Given the description of an element on the screen output the (x, y) to click on. 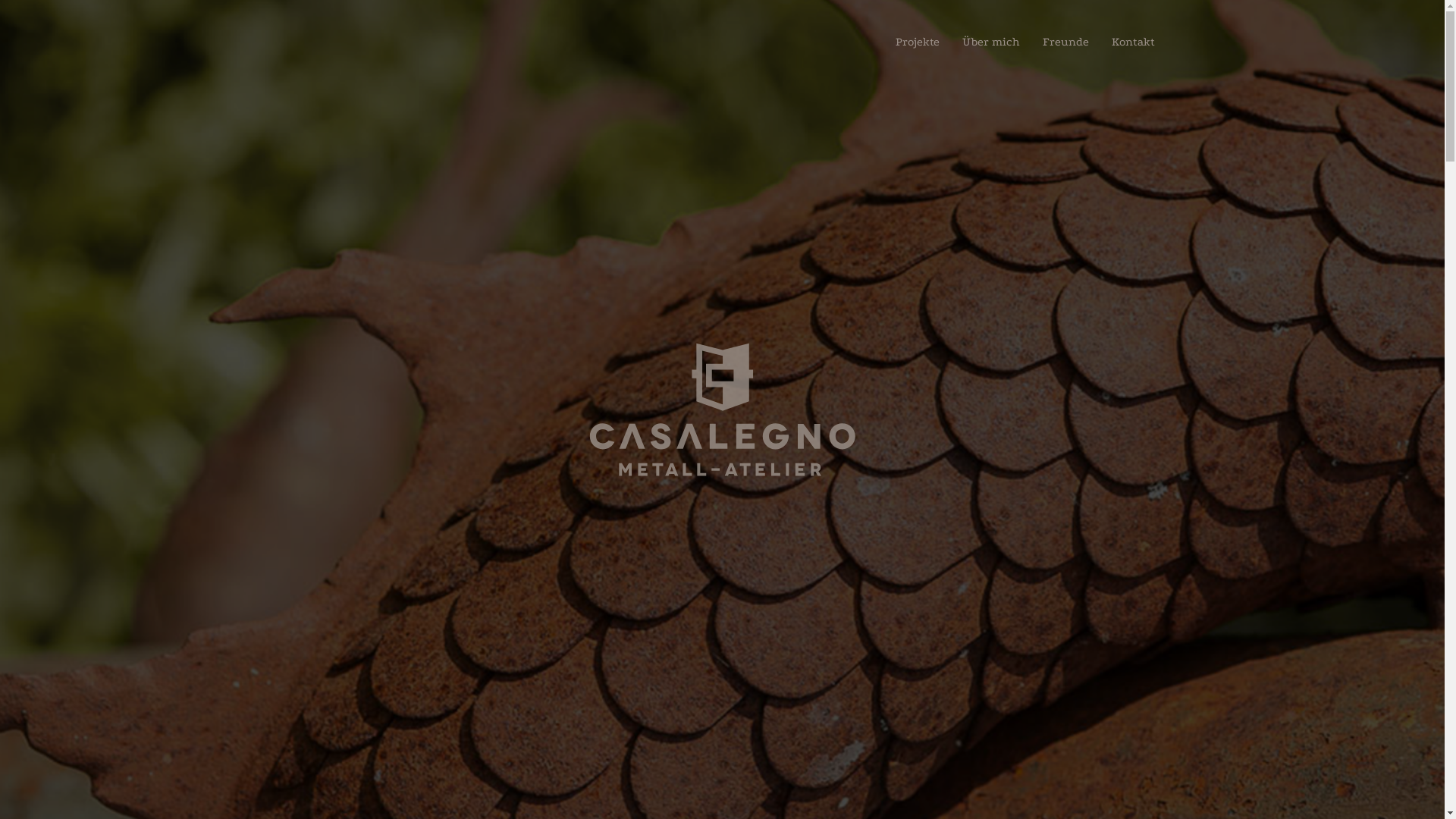
Projekte Element type: text (917, 41)
Freunde Element type: text (1065, 41)
Kontakt Element type: text (1132, 41)
